Given the description of an element on the screen output the (x, y) to click on. 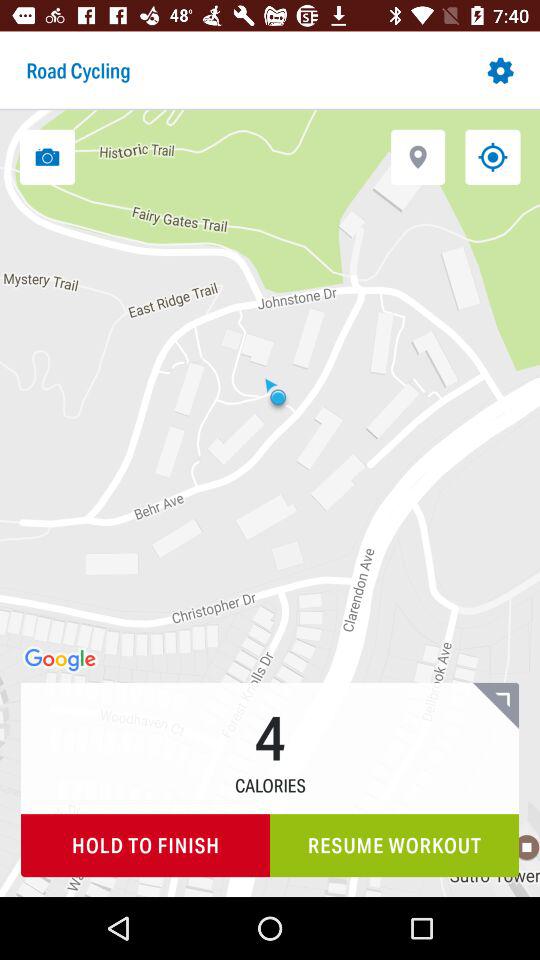
turn on the icon to the right of the hold to finish item (394, 845)
